Given the description of an element on the screen output the (x, y) to click on. 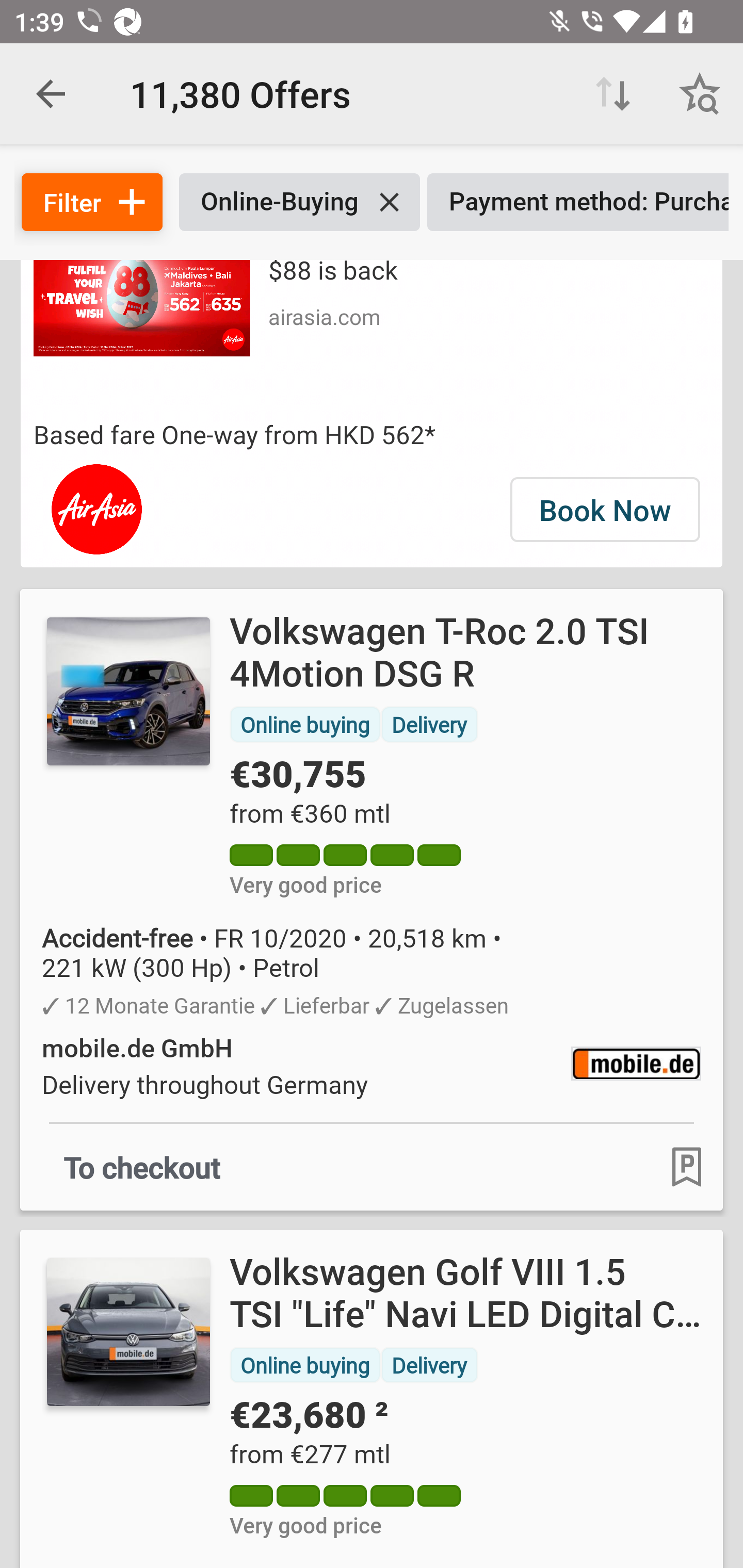
Navigate up (50, 93)
Sort options (612, 93)
Save search (699, 93)
Online-Buying Remove Online-Buying (299, 202)
Payment method: Purchase (577, 202)
Filter (91, 202)
$88 is back (332, 273)
airasia.com (324, 315)
Based fare One-way from HKD 562* (371, 433)
Book Now (604, 509)
To checkout (142, 1166)
